Given the description of an element on the screen output the (x, y) to click on. 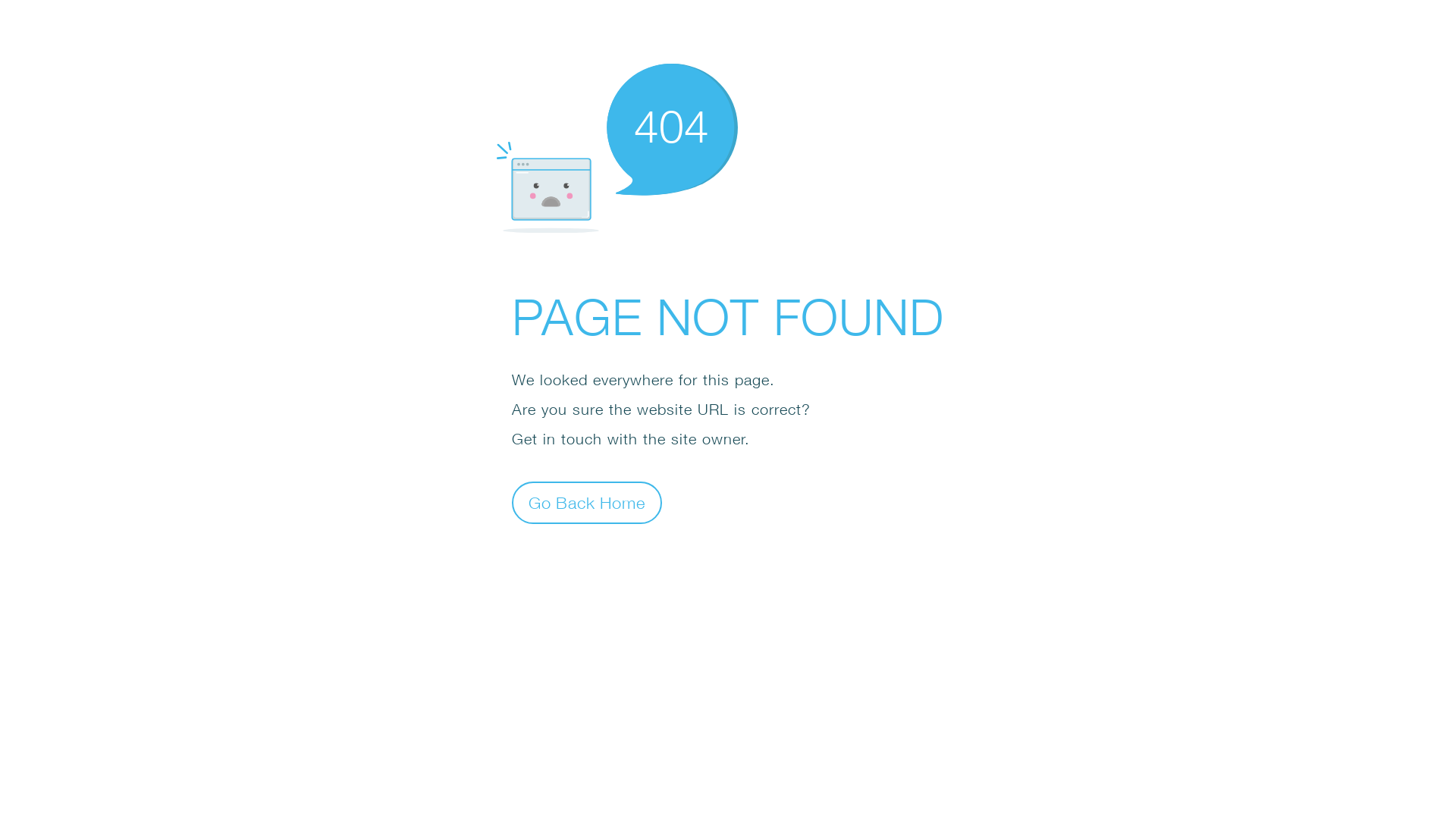
Go Back Home Element type: text (586, 502)
